Given the description of an element on the screen output the (x, y) to click on. 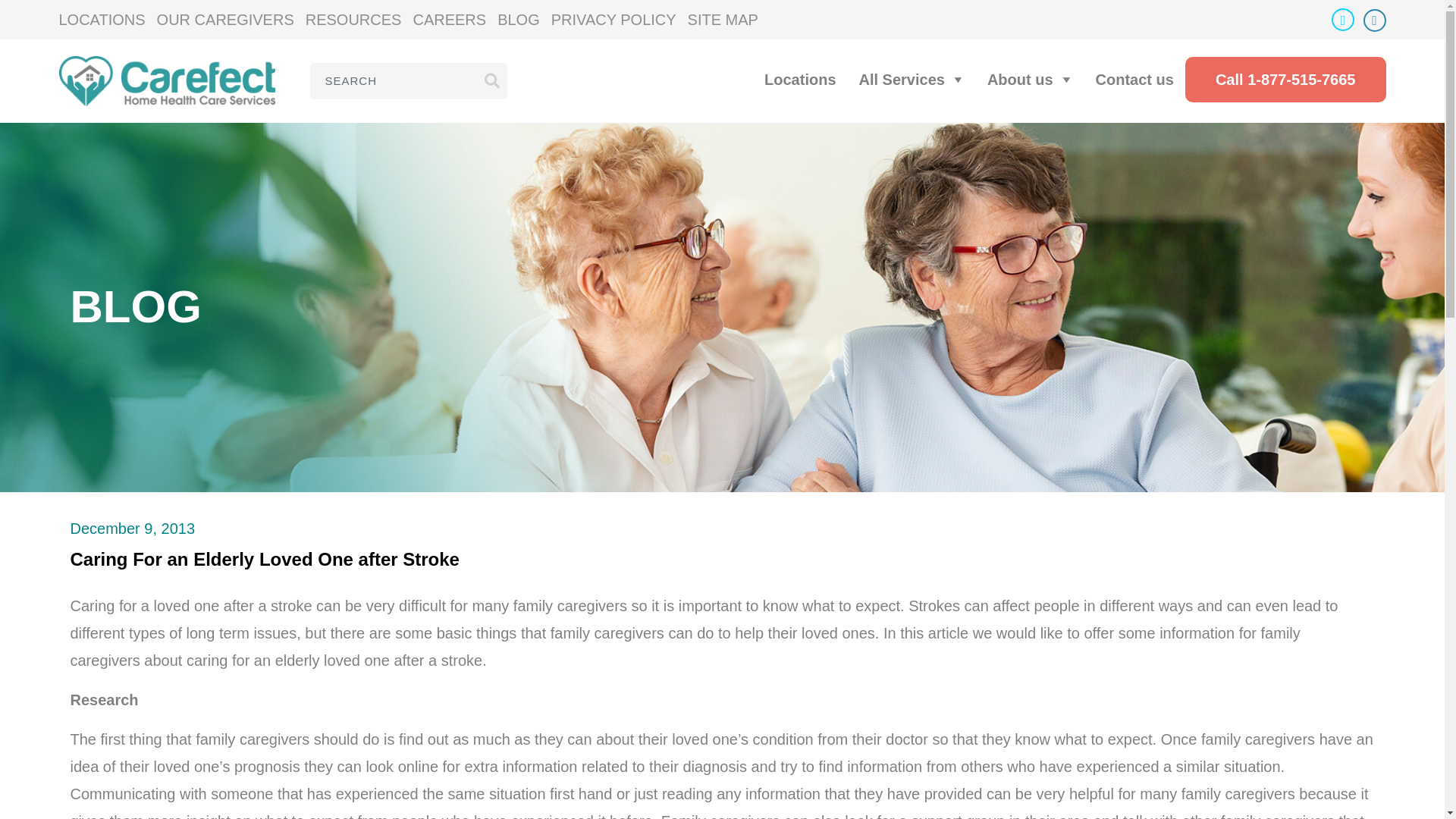
CAREERS (454, 19)
OUR CAREGIVERS (231, 19)
Contact us (1134, 79)
All Services (911, 79)
SITE MAP (728, 19)
RESOURCES (359, 19)
Search (491, 80)
BLOG (524, 19)
Call 1-877-515-7665 (1285, 79)
Locations (799, 79)
December 9, 2013 (132, 528)
PRIVACY POLICY (619, 19)
About us (1029, 79)
LOCATIONS (108, 19)
